Given the description of an element on the screen output the (x, y) to click on. 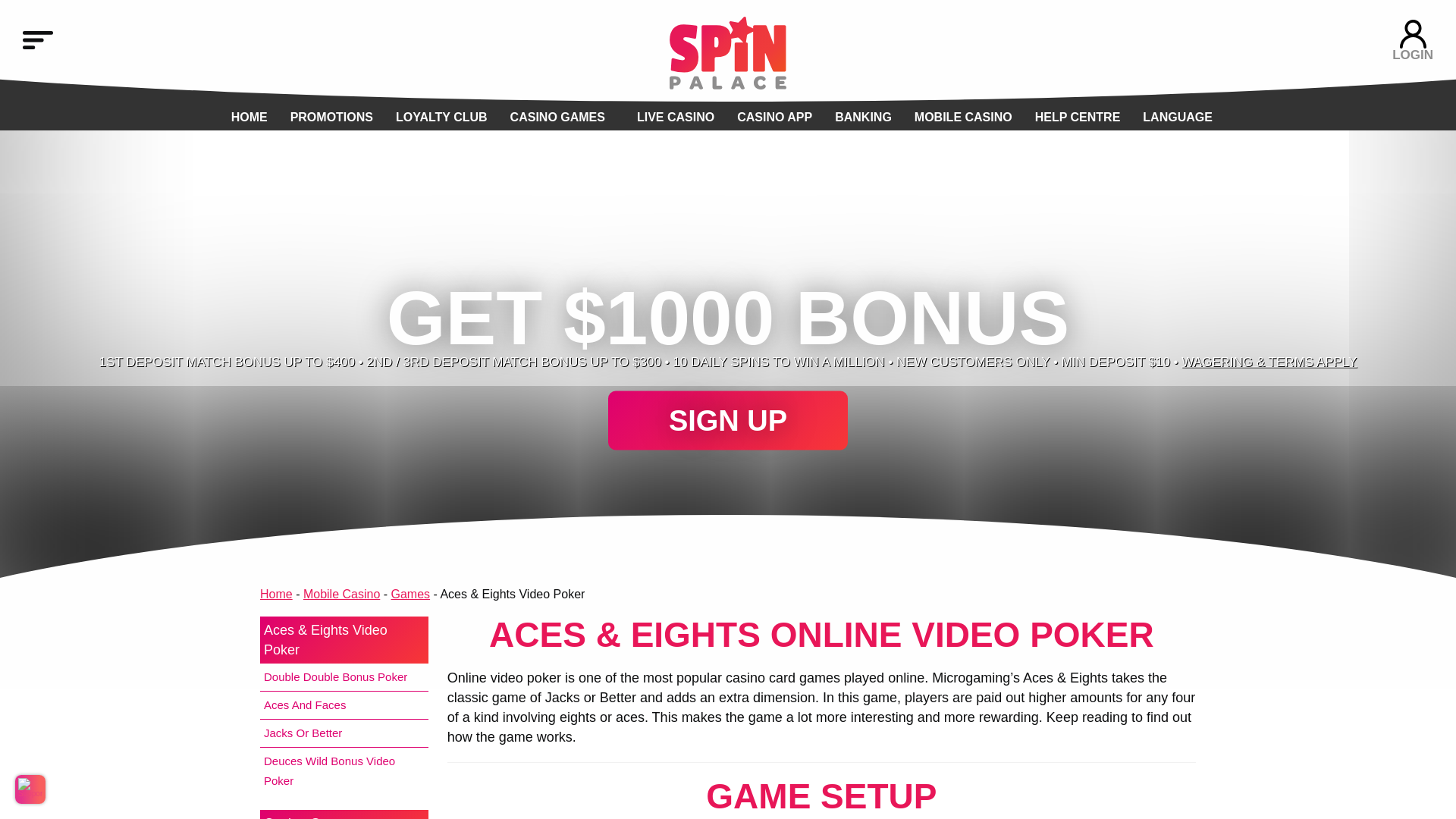
Home (276, 594)
SIGN UP (727, 420)
LIVE CASINO (675, 117)
BANKING (862, 117)
LANGUAGE (1177, 117)
LOYALTY CLUB (441, 117)
PROMOTIONS (330, 117)
HOME (249, 117)
MOBILE CASINO (962, 117)
CASINO APP (774, 117)
HELP CENTRE (1078, 117)
CASINO GAMES (558, 117)
